Given the description of an element on the screen output the (x, y) to click on. 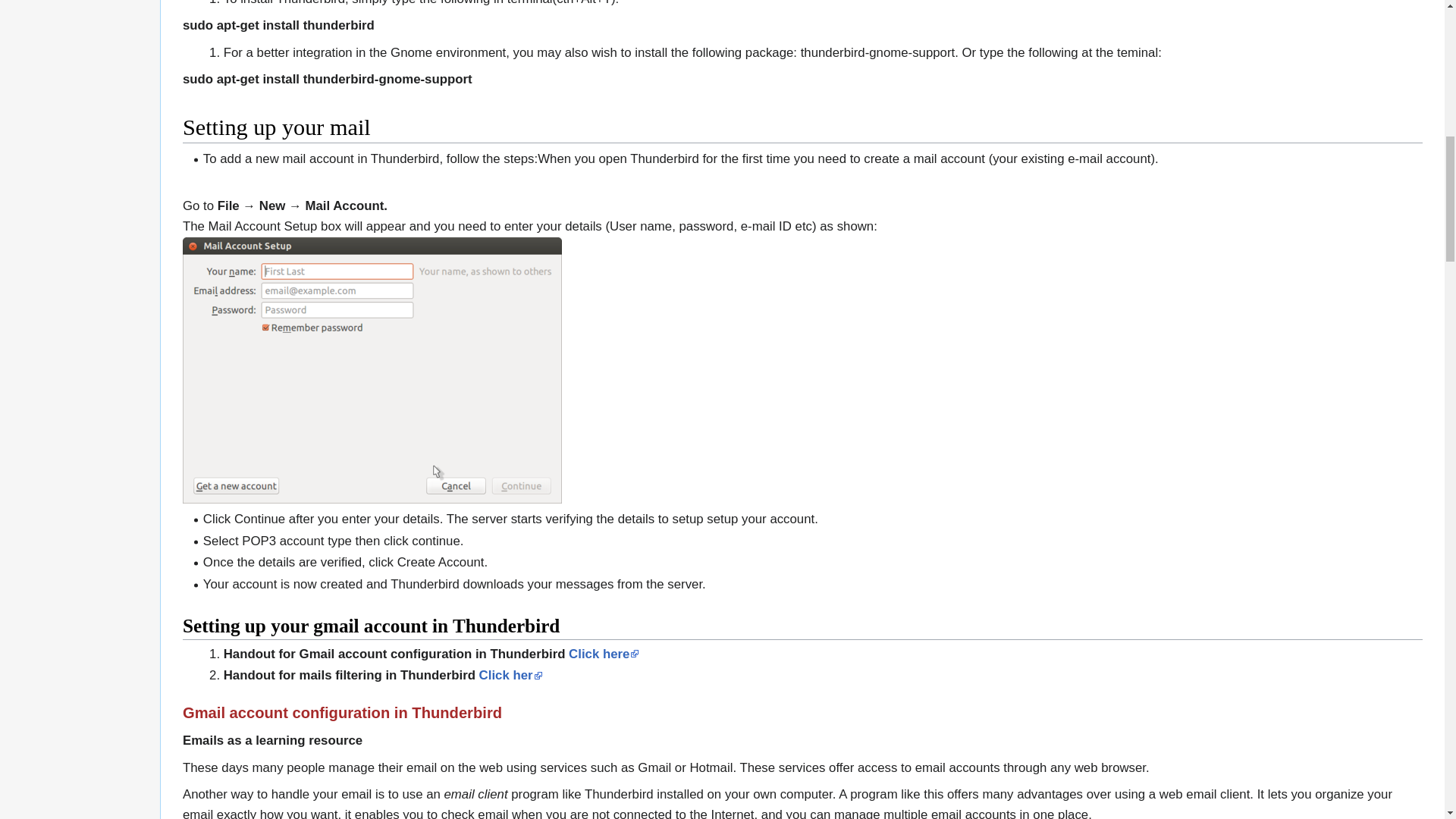
Click her (511, 675)
Click here (604, 653)
